Given the description of an element on the screen output the (x, y) to click on. 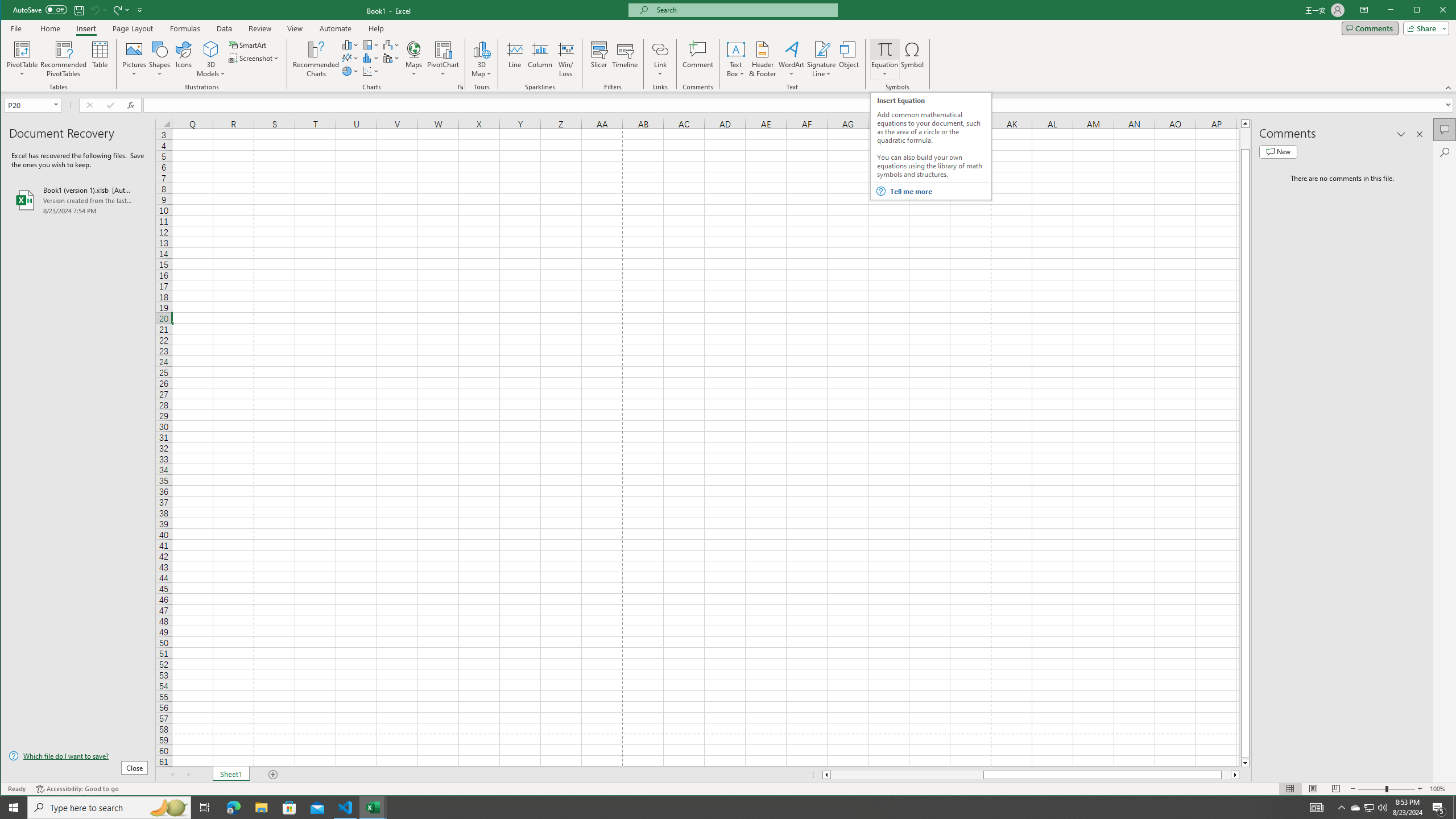
Table (100, 59)
PivotChart (1368, 807)
Show desktop (443, 59)
Close pane (1454, 807)
Microsoft Store (1419, 133)
Which file do I want to save? (289, 807)
Search highlights icon opens search home window (78, 755)
